Given the description of an element on the screen output the (x, y) to click on. 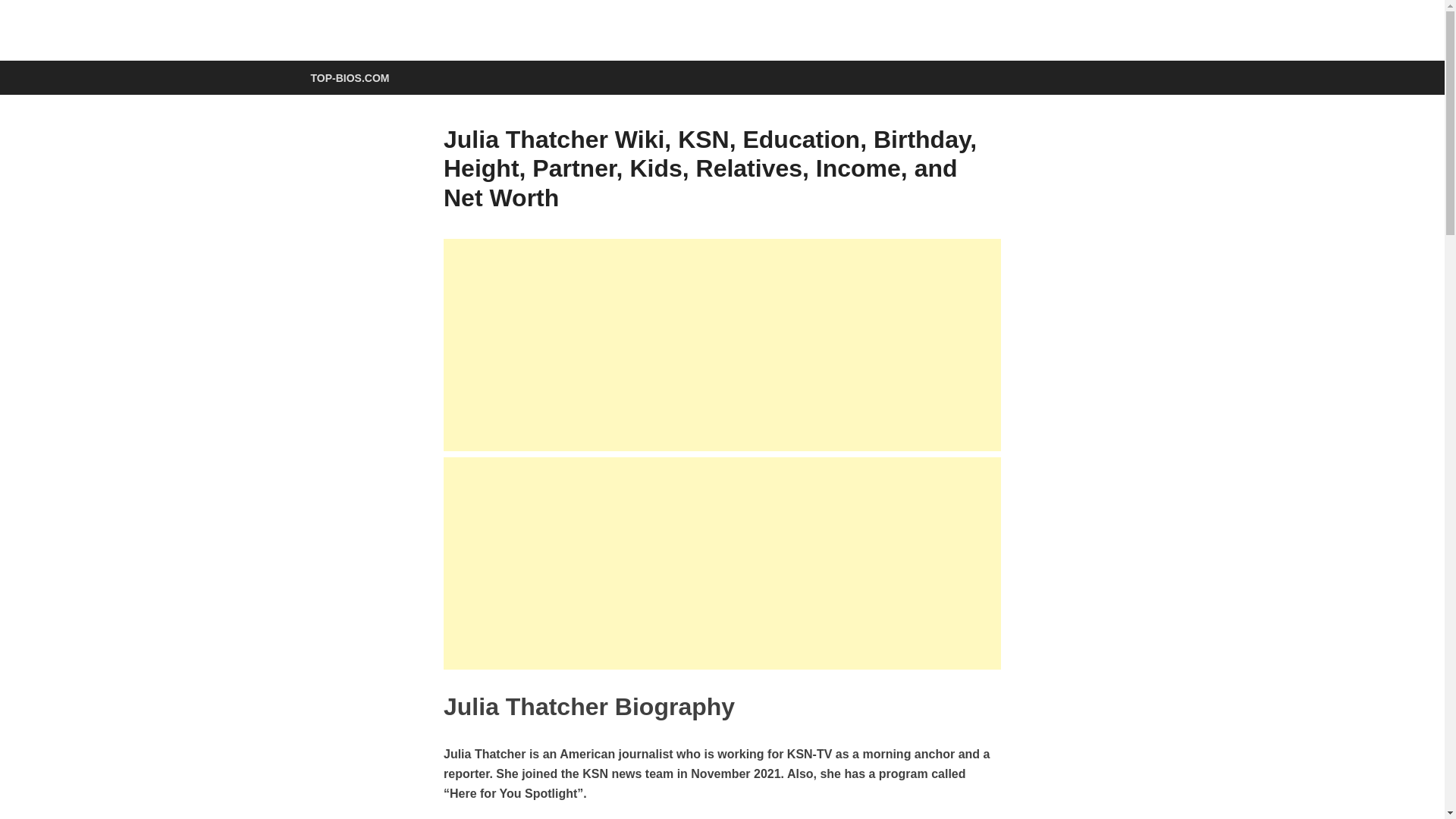
TOP-BIOS.COM (349, 77)
top-bios.com (394, 51)
Advertisement (722, 563)
Advertisement (722, 345)
